Given the description of an element on the screen output the (x, y) to click on. 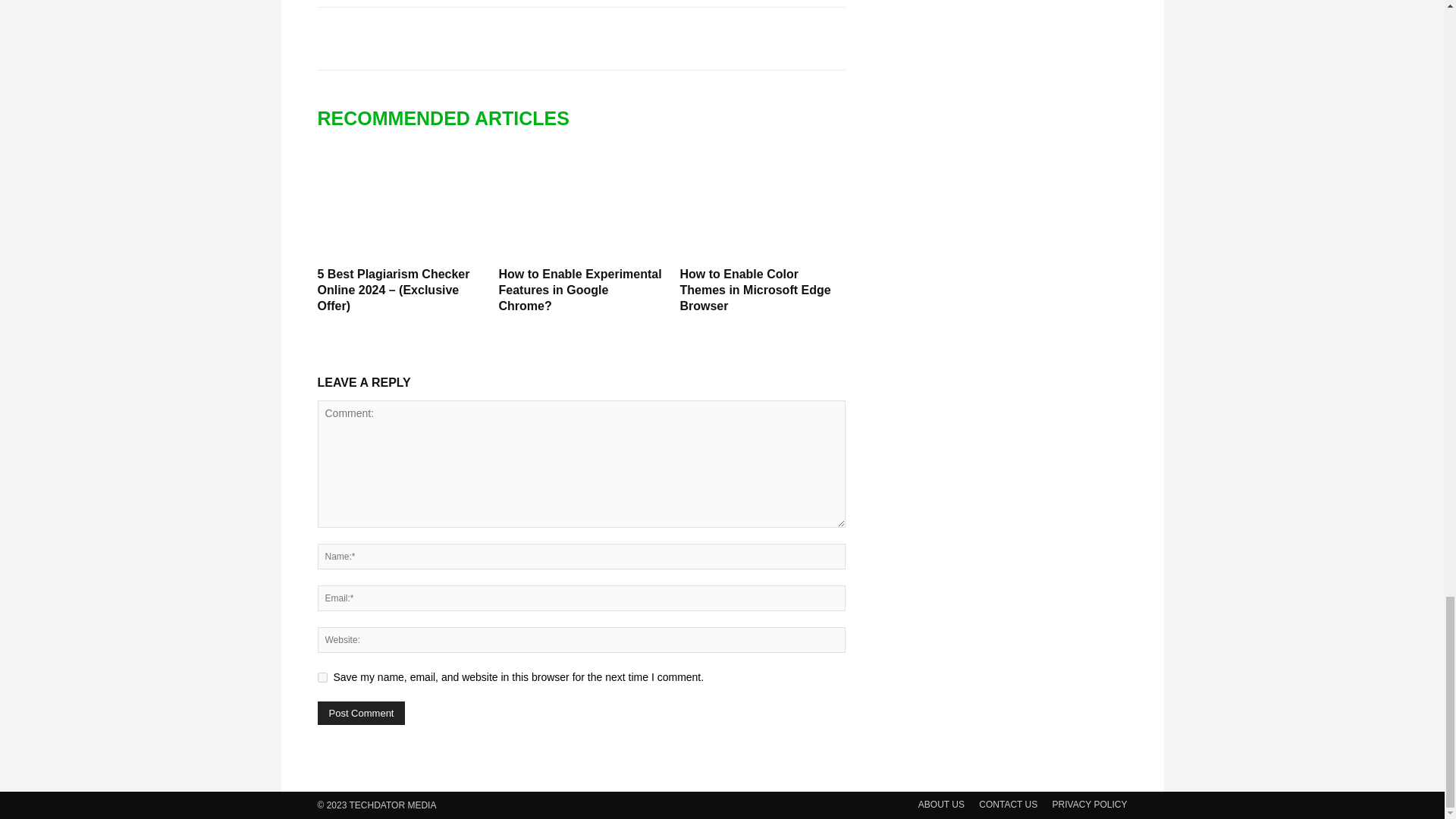
Post Comment (360, 712)
yes (321, 677)
RECOMMENDED ARTICLES (450, 118)
